Given the description of an element on the screen output the (x, y) to click on. 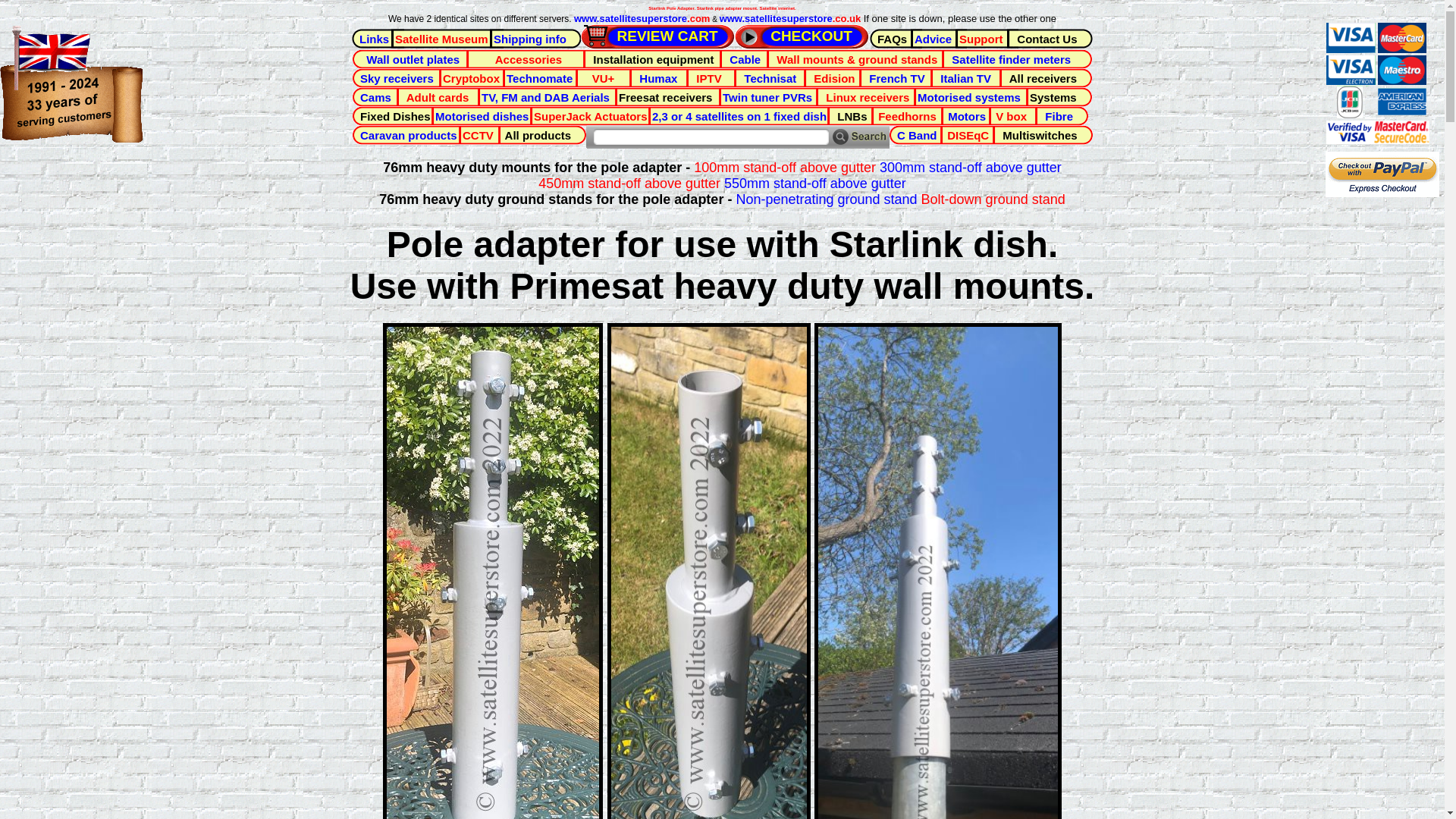
Links (378, 38)
  Installation equipment   (659, 58)
Systems (1059, 96)
Support (986, 38)
  Adult cards (439, 96)
CHECKOUT (802, 36)
Cams (379, 96)
CHECKOUT (802, 36)
  Humax     (666, 77)
 Feedhorns (911, 116)
  LNBs (854, 116)
  Contact Us (1050, 38)
  French TV (899, 77)
SuperJack Actuators   (598, 116)
2,3 or 4 satellites on 1 fixed dish (744, 116)
